Given the description of an element on the screen output the (x, y) to click on. 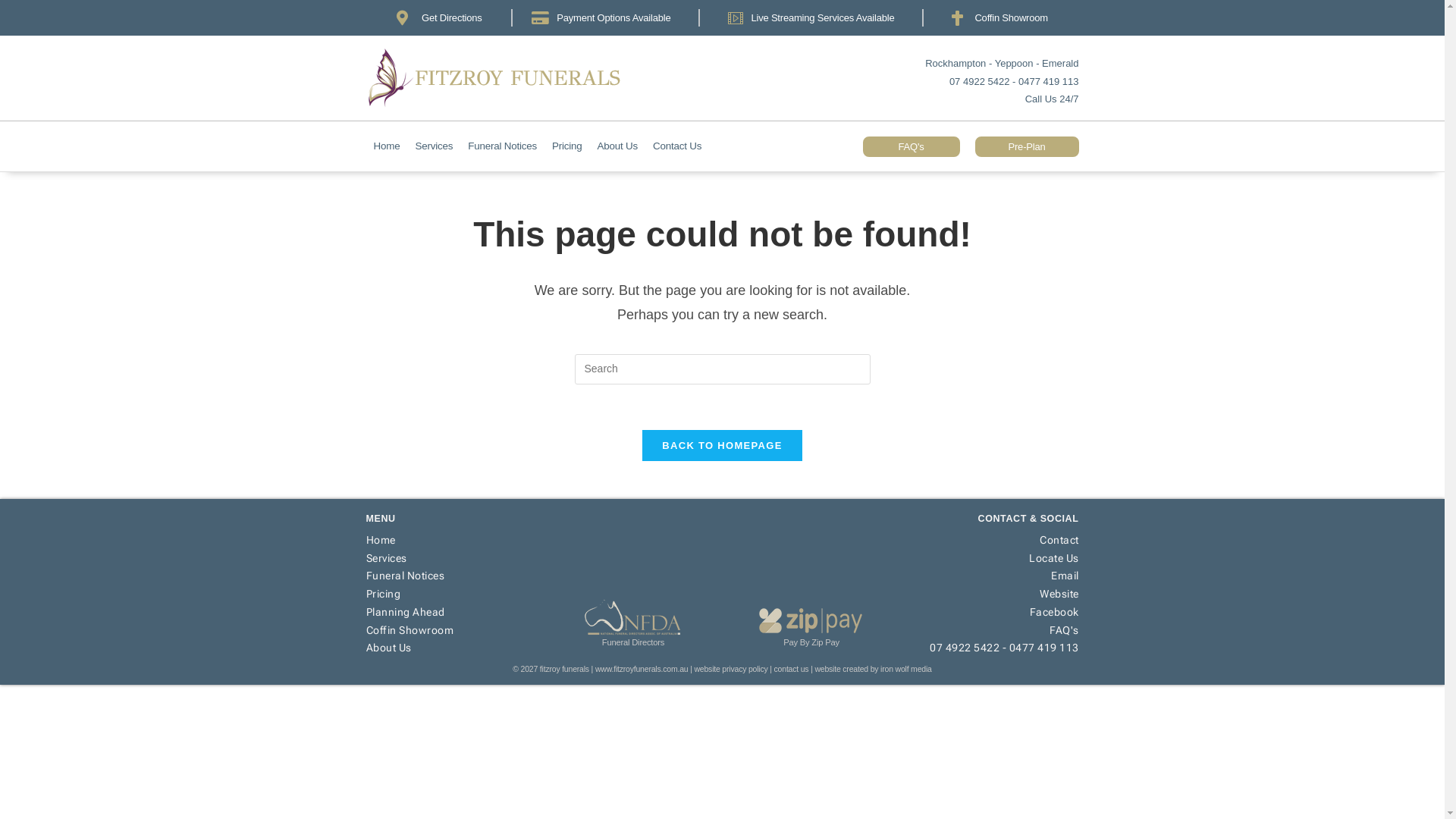
BACK TO HOMEPAGE Element type: text (721, 445)
Get Directions     Element type: text (444, 17)
website privacy policy Element type: text (730, 668)
www.fitzroyfunerals.com.au Element type: text (641, 668)
Pre-Plan Element type: text (1027, 146)
About Us Element type: text (616, 145)
contact us Element type: text (791, 668)
Facebook Element type: text (989, 611)
Email Element type: text (989, 575)
Contact Element type: text (989, 539)
Services Element type: text (454, 558)
Coffin Showroom Element type: text (454, 629)
Planning Ahead Element type: text (454, 611)
Pricing Element type: text (454, 593)
Services Element type: text (433, 145)
iron wolf media Element type: text (905, 668)
Funeral Notices Element type: text (454, 575)
FITZROY FUNERALS Element type: text (516, 78)
Funeral Notices Element type: text (502, 145)
Payment Options Available Element type: text (600, 17)
Home Element type: text (386, 145)
Pricing Element type: text (566, 145)
Contact Us Element type: text (677, 145)
FAQ's Element type: text (911, 146)
Locate Us Element type: text (989, 558)
Website Element type: text (989, 593)
About Us Element type: text (454, 647)
Home Element type: text (454, 539)
Live Streaming Services Available Element type: text (811, 17)
Coffin Showroom Element type: text (999, 17)
07 4922 5422 - 0477 419 113 Element type: text (989, 647)
FAQ's Element type: text (989, 629)
